Given the description of an element on the screen output the (x, y) to click on. 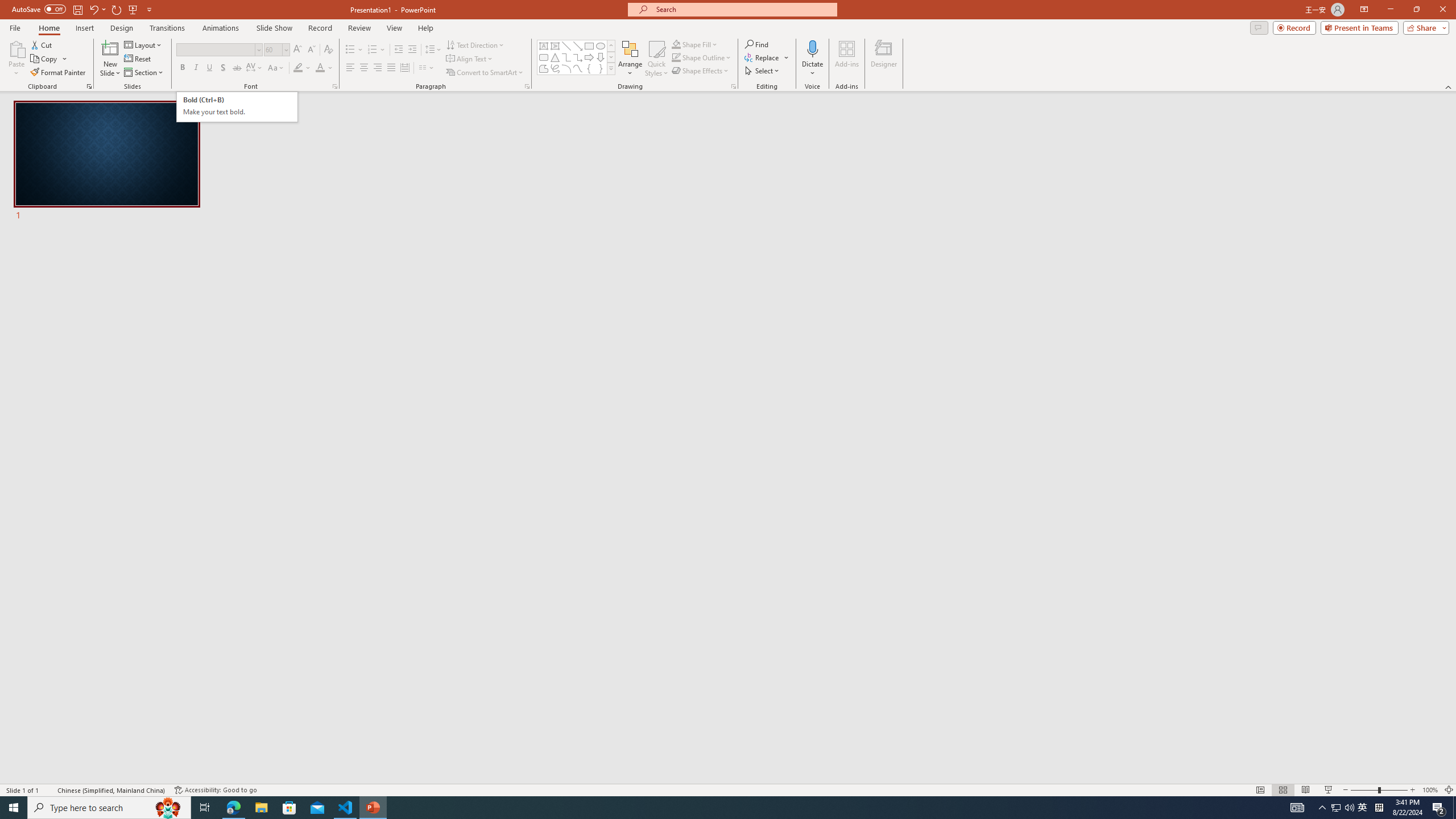
Shape Fill Orange, Accent 2 (675, 44)
